Given the description of an element on the screen output the (x, y) to click on. 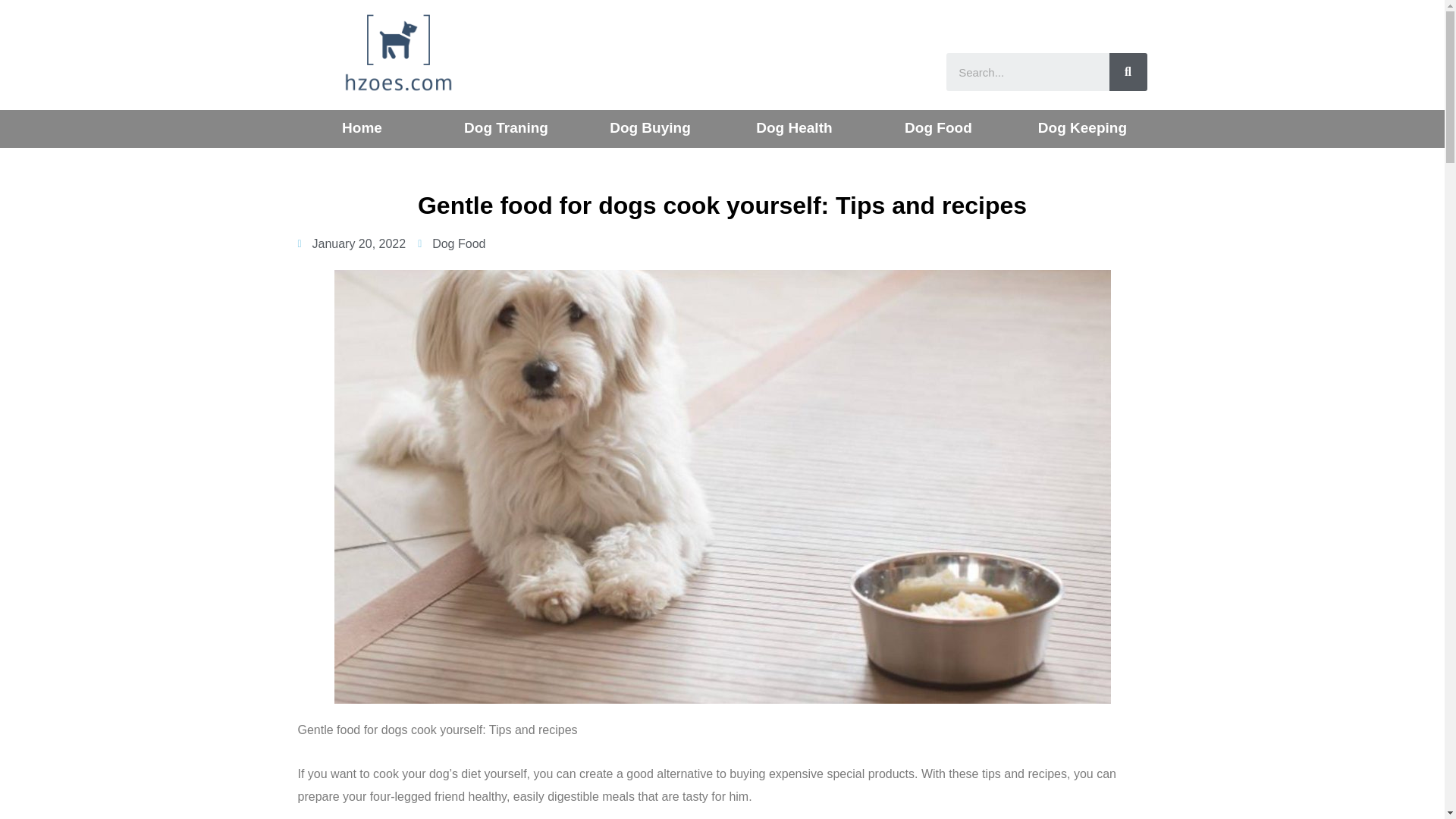
Dog Traning (506, 127)
Dog Keeping (1082, 127)
January 20, 2022 (351, 243)
Dog Food (938, 127)
Dog Buying (650, 127)
Dog Food (458, 243)
Search (1127, 71)
Dog Health (793, 127)
Search (1027, 71)
Home (361, 127)
